Given the description of an element on the screen output the (x, y) to click on. 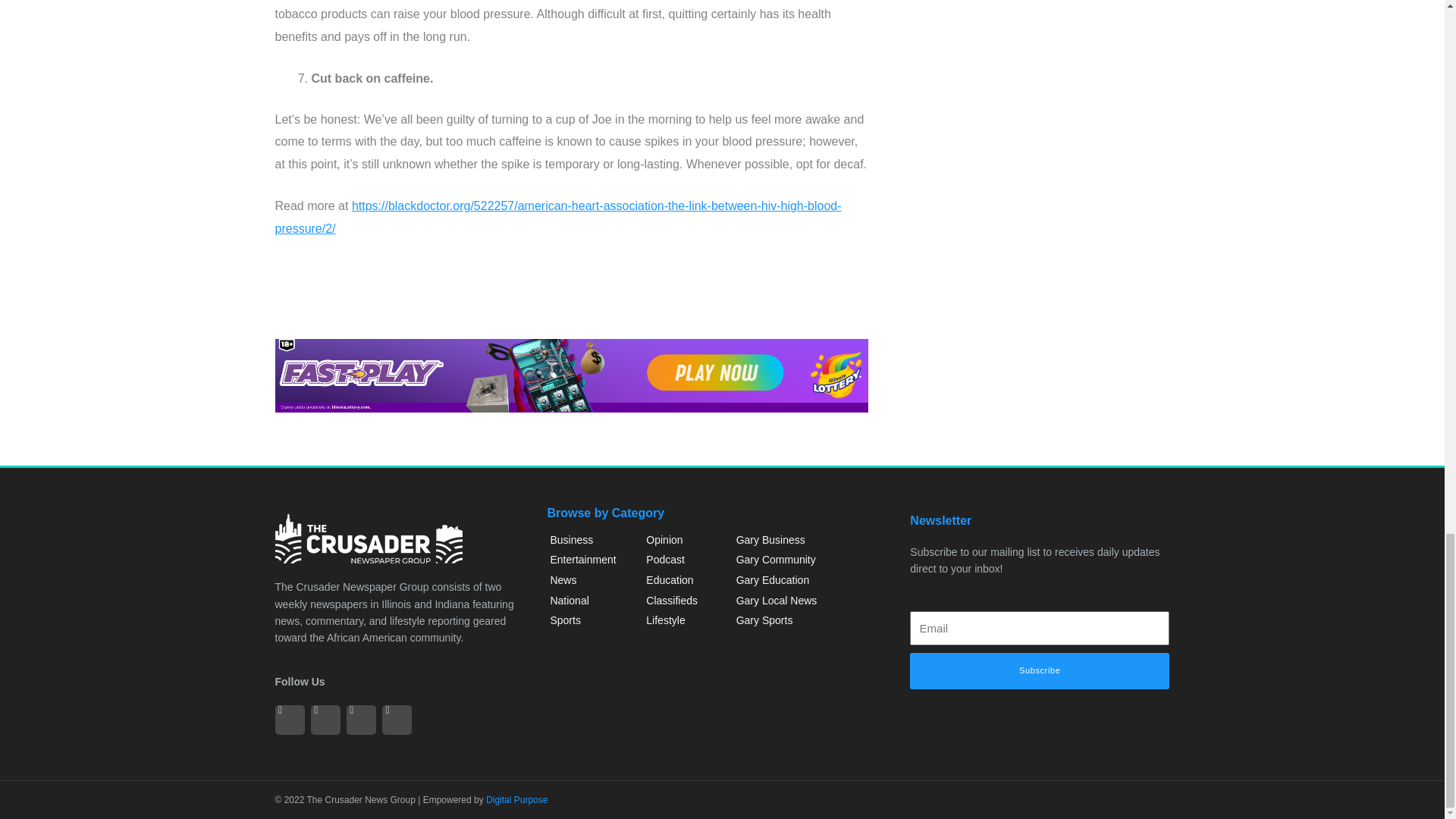
Fast Play-Lottery-Footer-July 2024 (571, 375)
